Given the description of an element on the screen output the (x, y) to click on. 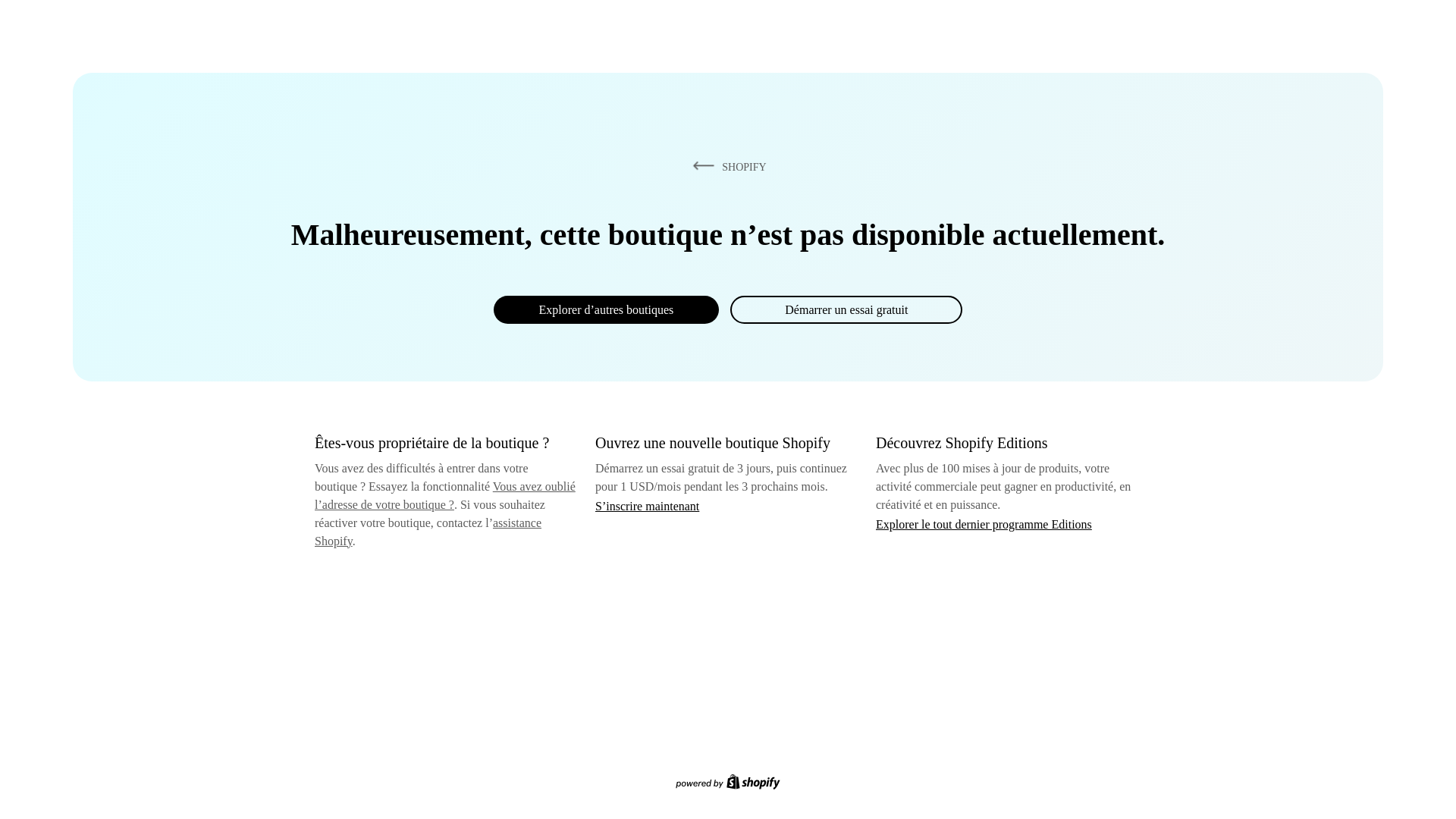
assistance Shopify (427, 531)
SHOPIFY (726, 166)
Explorer le tout dernier programme Editions (984, 523)
